Given the description of an element on the screen output the (x, y) to click on. 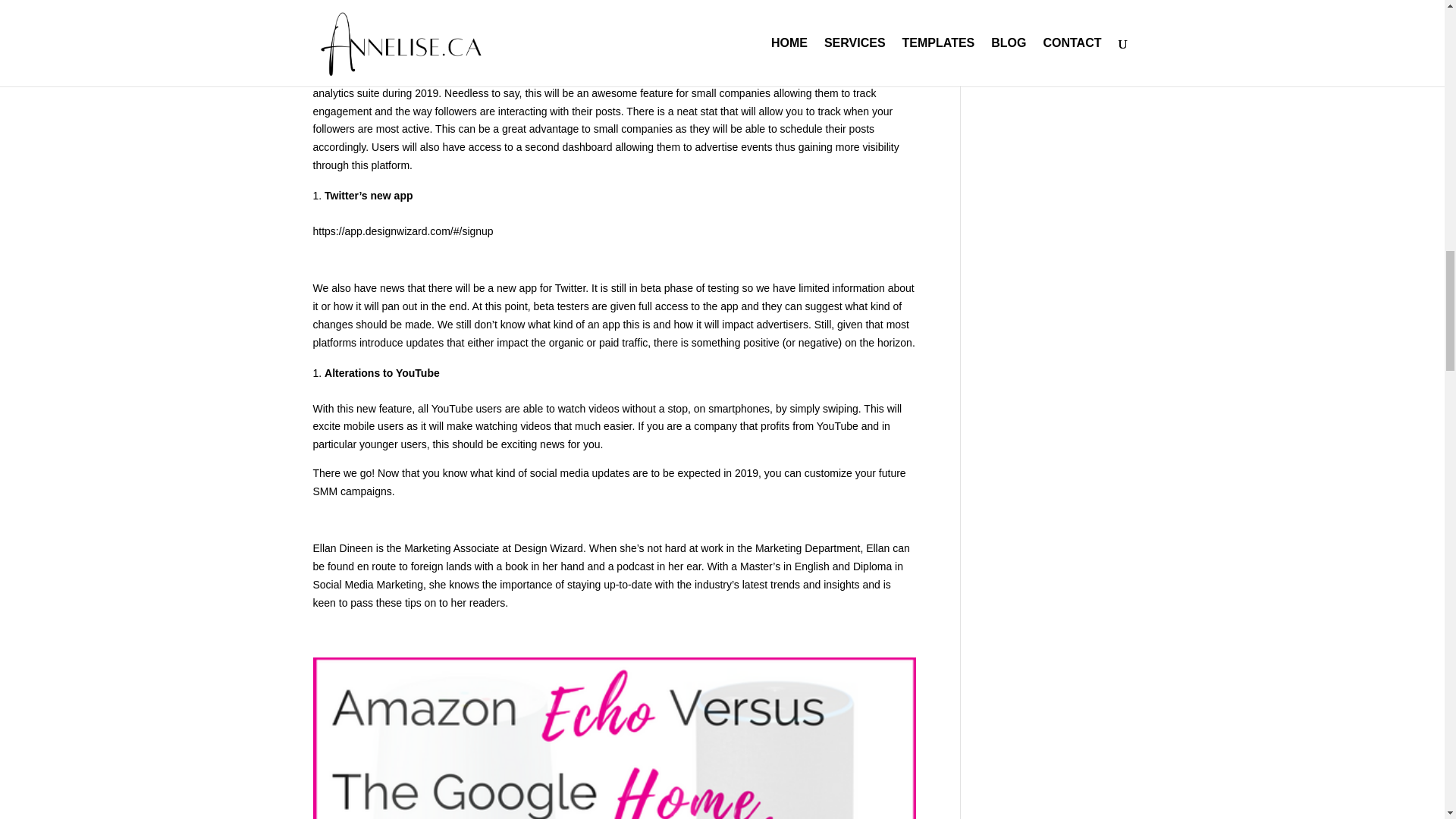
Design Wizard (548, 548)
